Given the description of an element on the screen output the (x, y) to click on. 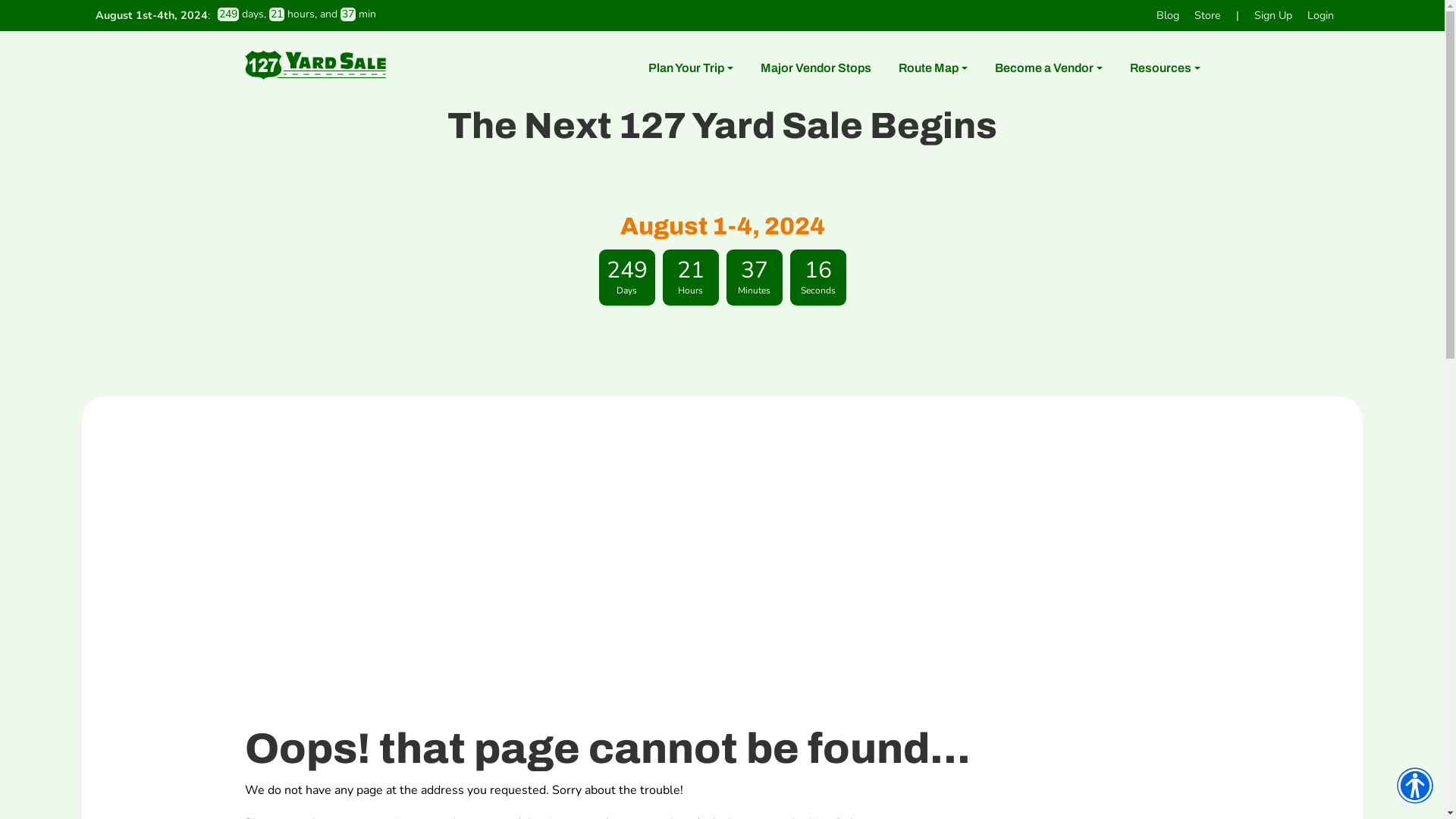
Blog Element type: text (1167, 15)
Become a Vendor Element type: text (1048, 67)
127 Yard Sale - Home Element type: hover (314, 64)
Store Element type: text (1207, 15)
Advertisement Element type: hover (721, 575)
Resources Element type: text (1164, 67)
Major Vendor Stops Element type: text (814, 67)
Open accessibility tools Element type: hover (1414, 785)
Login Element type: text (1320, 15)
Plan Your Trip Element type: text (689, 67)
Route Map Element type: text (931, 67)
Sign Up Element type: text (1273, 15)
